Given the description of an element on the screen output the (x, y) to click on. 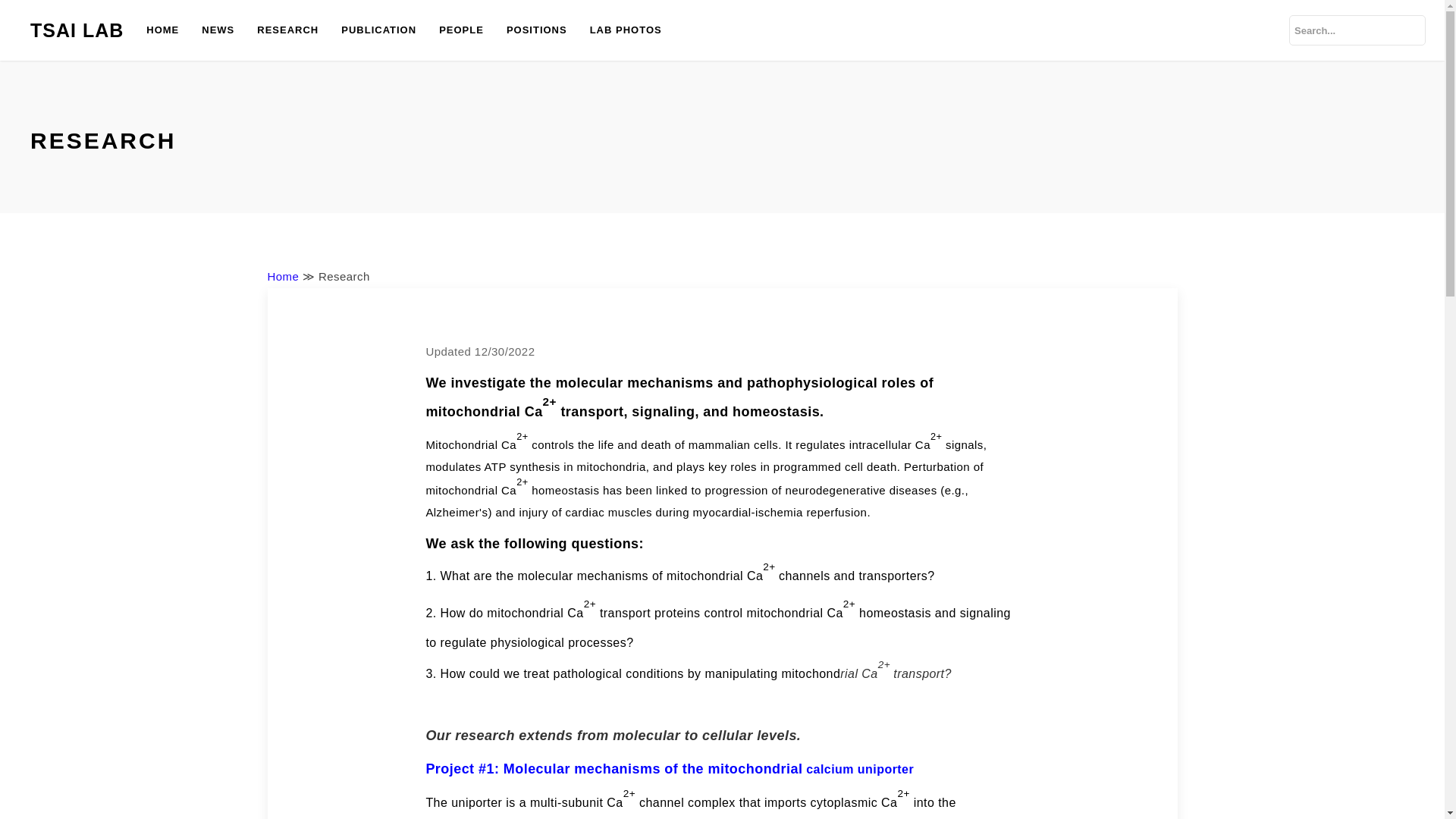
HOME (162, 30)
NEWS (218, 30)
RESEARCH (288, 30)
POSITIONS (536, 30)
PEOPLE (461, 30)
Home (282, 276)
TSAI LAB (76, 30)
LAB PHOTOS (625, 30)
PUBLICATION (379, 30)
